Given the description of an element on the screen output the (x, y) to click on. 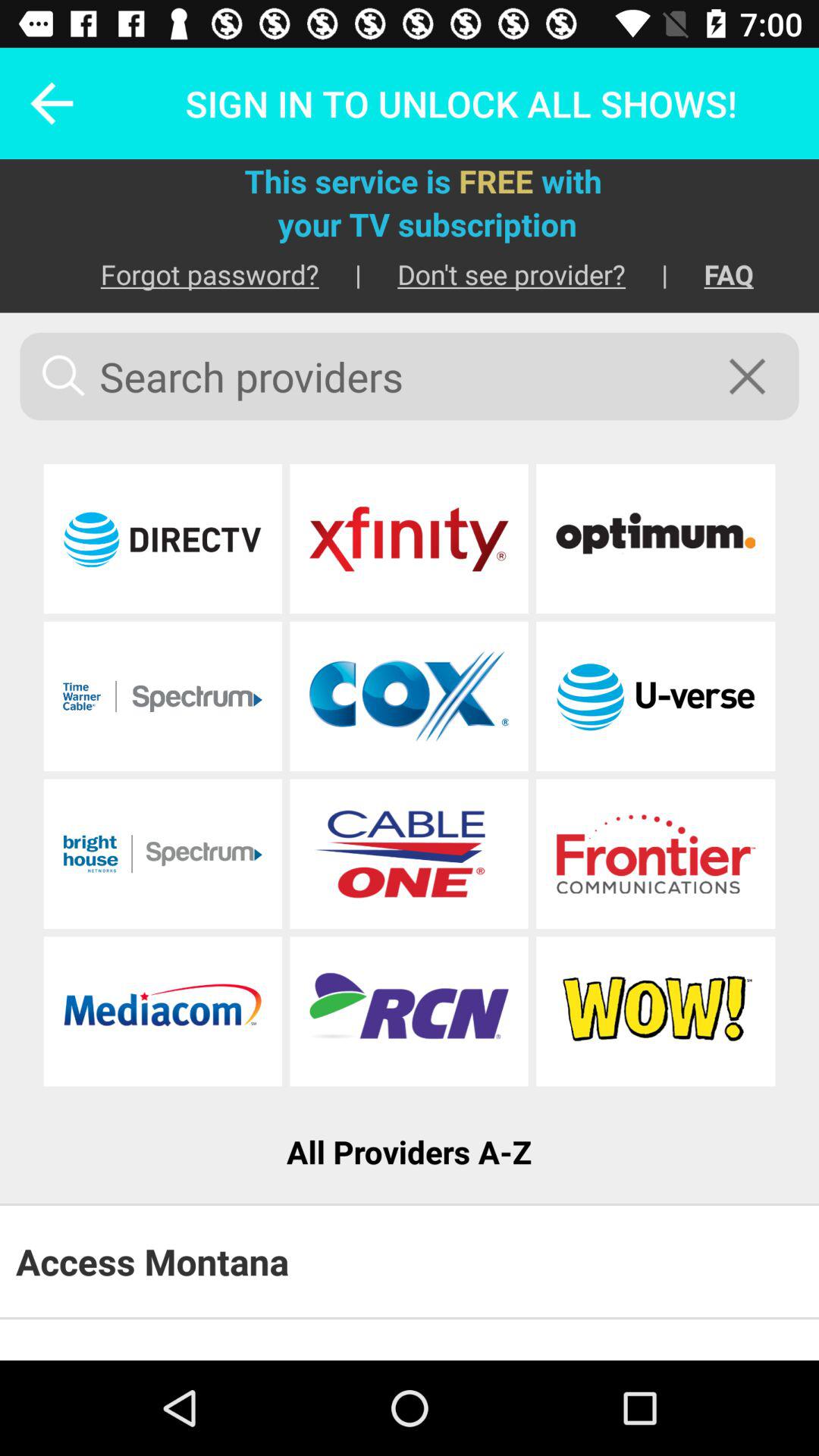
select bright house spectrum (162, 853)
